Given the description of an element on the screen output the (x, y) to click on. 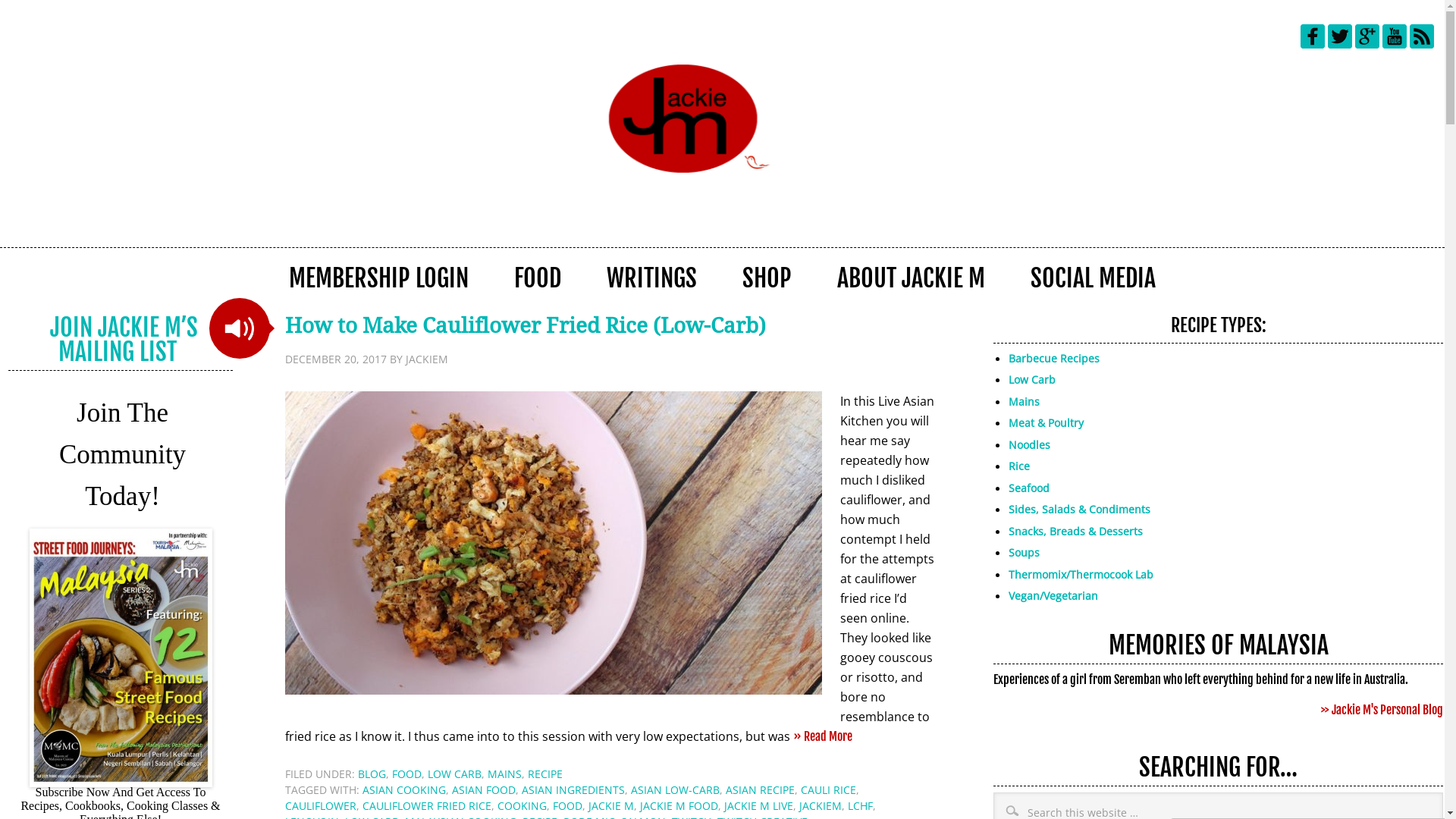
Low Carb Element type: text (1031, 379)
JACKIE M Element type: text (610, 805)
JACKIE M FOOD Element type: text (679, 805)
Noodles Element type: text (1029, 444)
BLOG Element type: text (371, 773)
Seafood Element type: text (1028, 487)
MAINS Element type: text (504, 773)
How to Make Cauliflower Fried Rice (Low-Carb) Element type: text (525, 325)
Soups Element type: text (1023, 552)
Meat & Poultry Element type: text (1045, 422)
WRITINGS Element type: text (651, 277)
COOKING Element type: text (521, 805)
JACKIEM Element type: text (820, 805)
ASIAN INGREDIENTS Element type: text (572, 789)
FOOD Element type: text (406, 773)
B Element type: text (1011, 358)
ASIAN COOKING Element type: text (403, 789)
ASIAN LOW-CARB Element type: text (674, 789)
CAULI RICE Element type: text (828, 789)
RECIPE Element type: text (544, 773)
LCHF Element type: text (859, 805)
ABOUT JACKIE M Element type: text (910, 277)
arbecue Recipes Element type: text (1057, 358)
Thermomix/Thermocook Lab Element type: text (1080, 574)
>> Jackie M's Personal Blog Element type: text (1382, 709)
JACKIE M LIVE Element type: text (758, 805)
Vegan/Vegetarian Element type: text (1053, 595)
SHOP Element type: text (766, 277)
Search Element type: text (1442, 791)
ASIAN FOOD Element type: text (483, 789)
ASIAN RECIPE Element type: text (759, 789)
SOCIAL MEDIA Element type: text (1092, 277)
JACKIEM Element type: text (426, 358)
FOOD Element type: text (567, 805)
Mains Element type: text (1023, 401)
Read Content Element type: hover (239, 328)
MEMBERSHIP LOGIN Element type: text (378, 277)
FOOD Element type: text (537, 277)
CAULIFLOWER FRIED RICE Element type: text (426, 805)
CAULIFLOWER Element type: text (320, 805)
LOW CARB Element type: text (454, 773)
Sides, Salads & Condiments Element type: text (1079, 509)
Rice Element type: text (1018, 465)
Snacks, Breads & Desserts Element type: text (1075, 531)
